Given the description of an element on the screen output the (x, y) to click on. 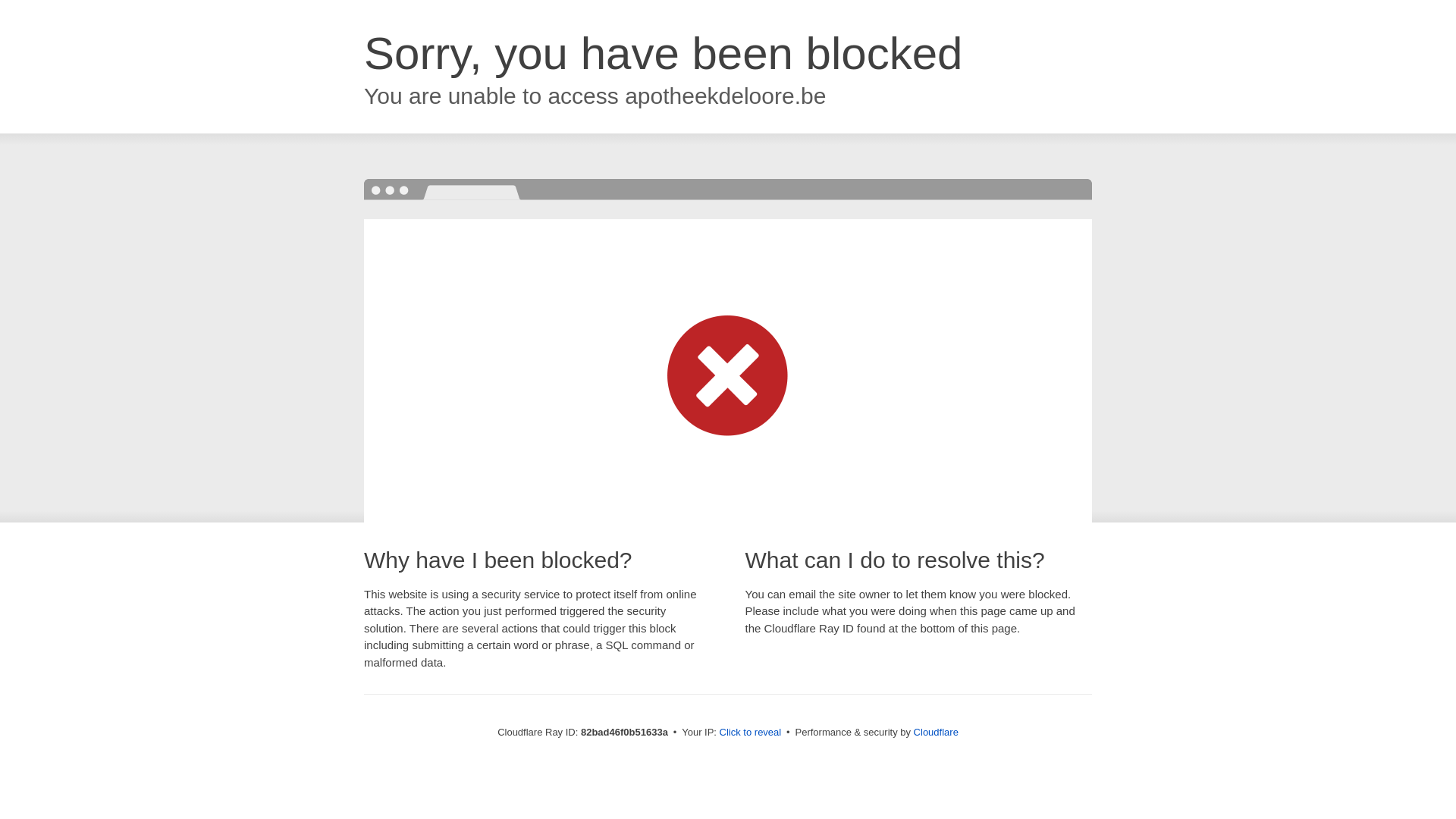
Cloudflare Element type: text (935, 731)
Click to reveal Element type: text (750, 732)
